Given the description of an element on the screen output the (x, y) to click on. 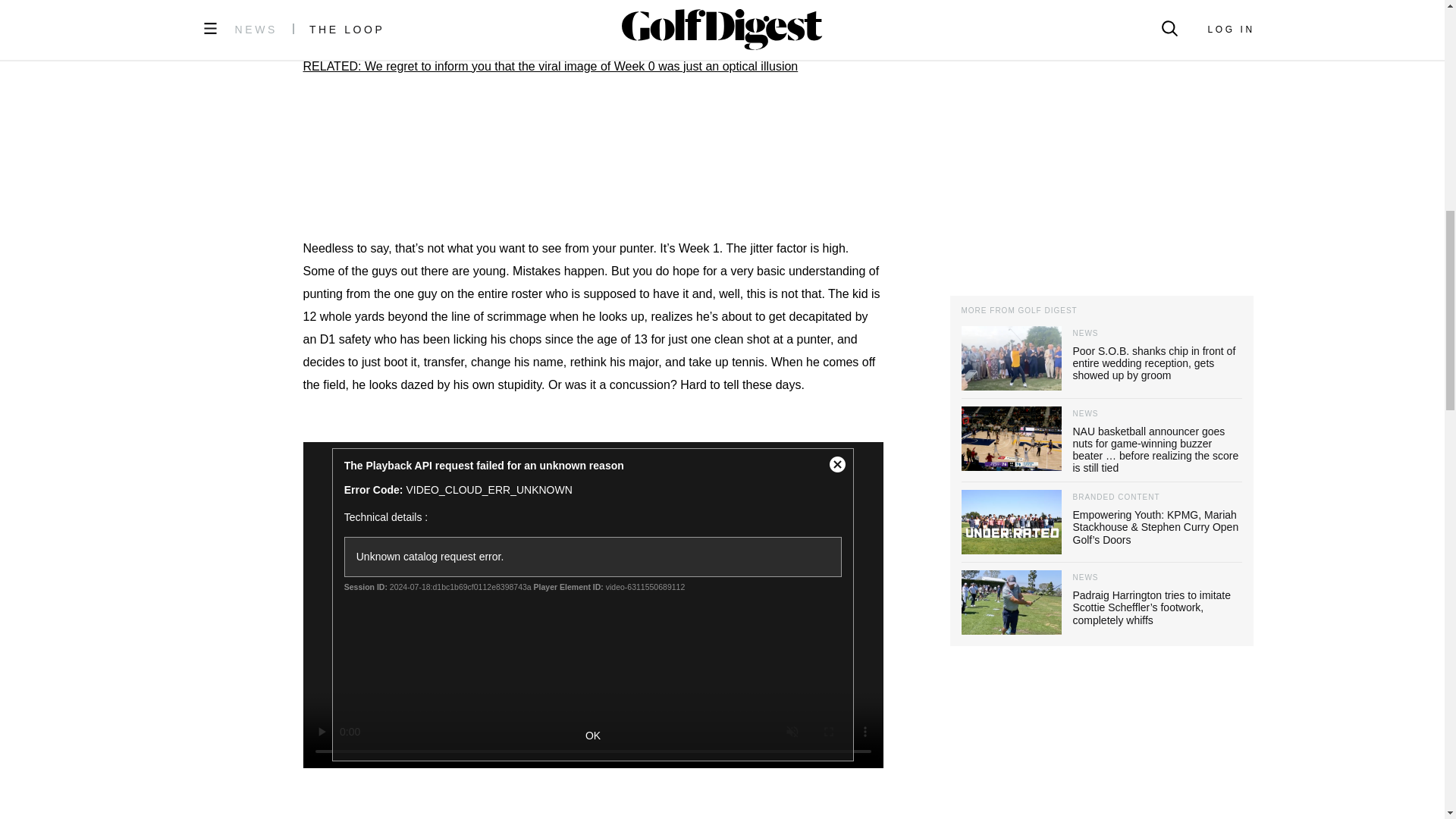
3rd party ad content (593, 157)
